Given the description of an element on the screen output the (x, y) to click on. 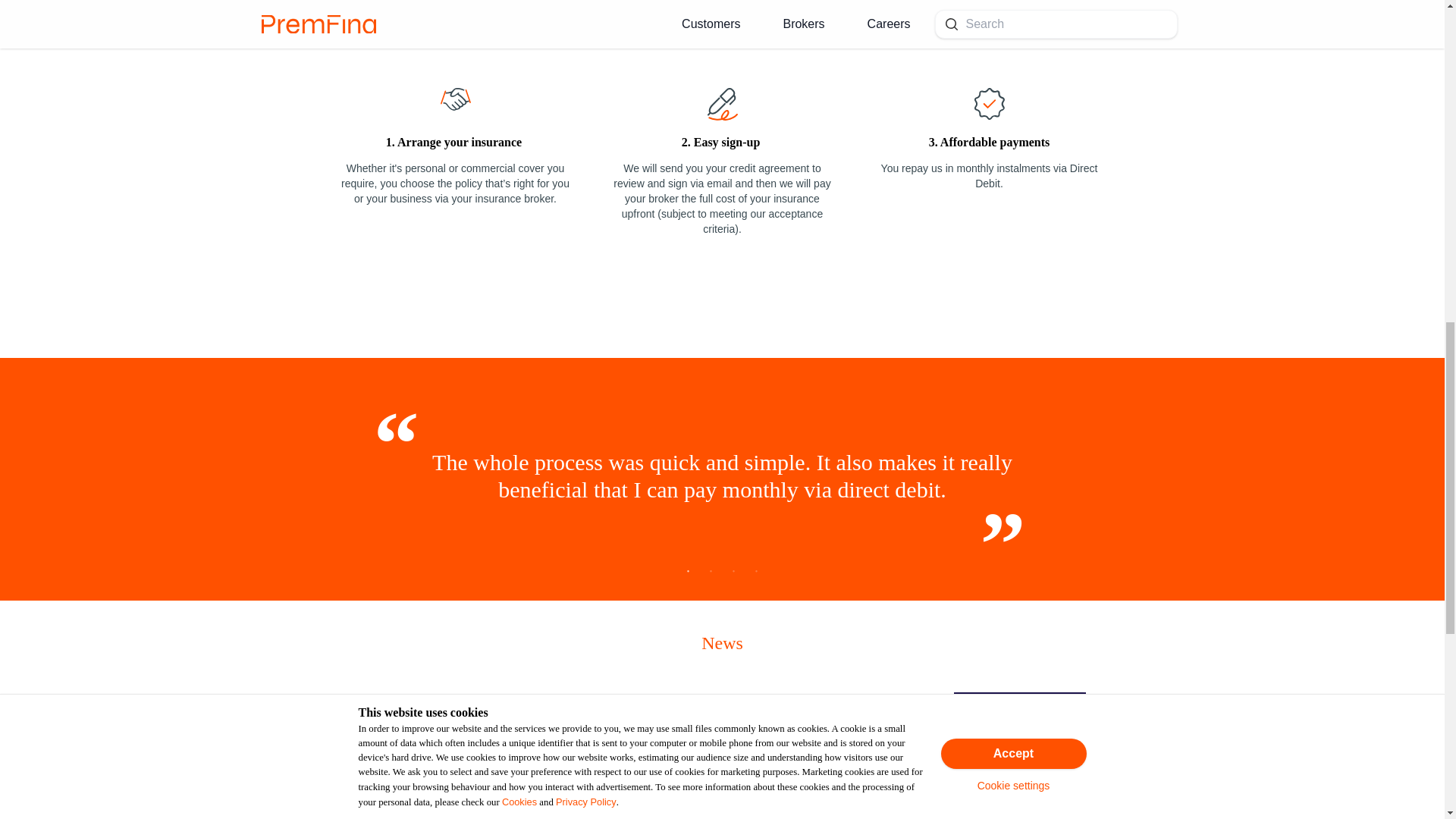
4 (756, 575)
2 (711, 575)
3 (733, 575)
1 (688, 575)
